Given the description of an element on the screen output the (x, y) to click on. 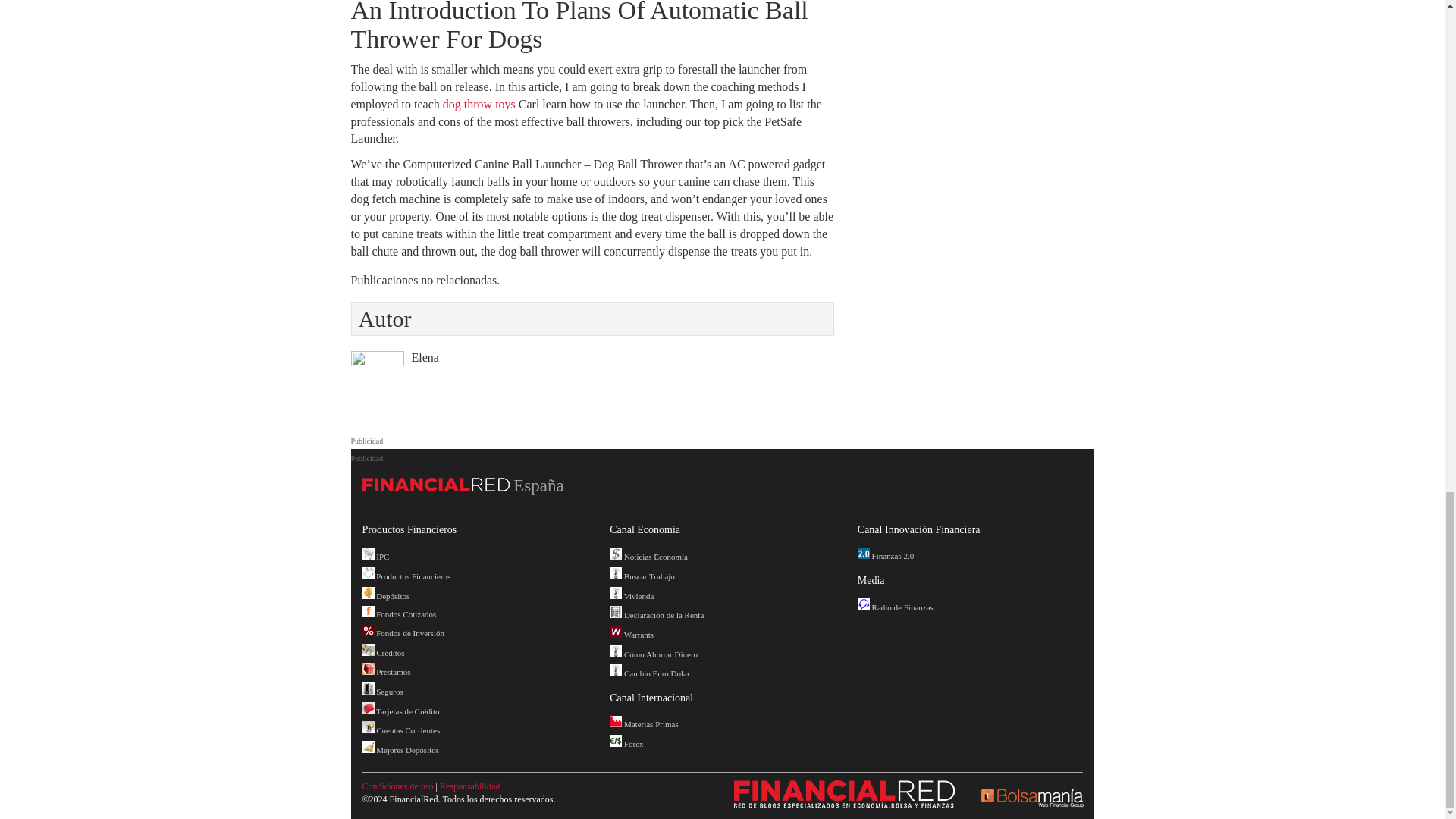
dog throw toys (478, 103)
